Given the description of an element on the screen output the (x, y) to click on. 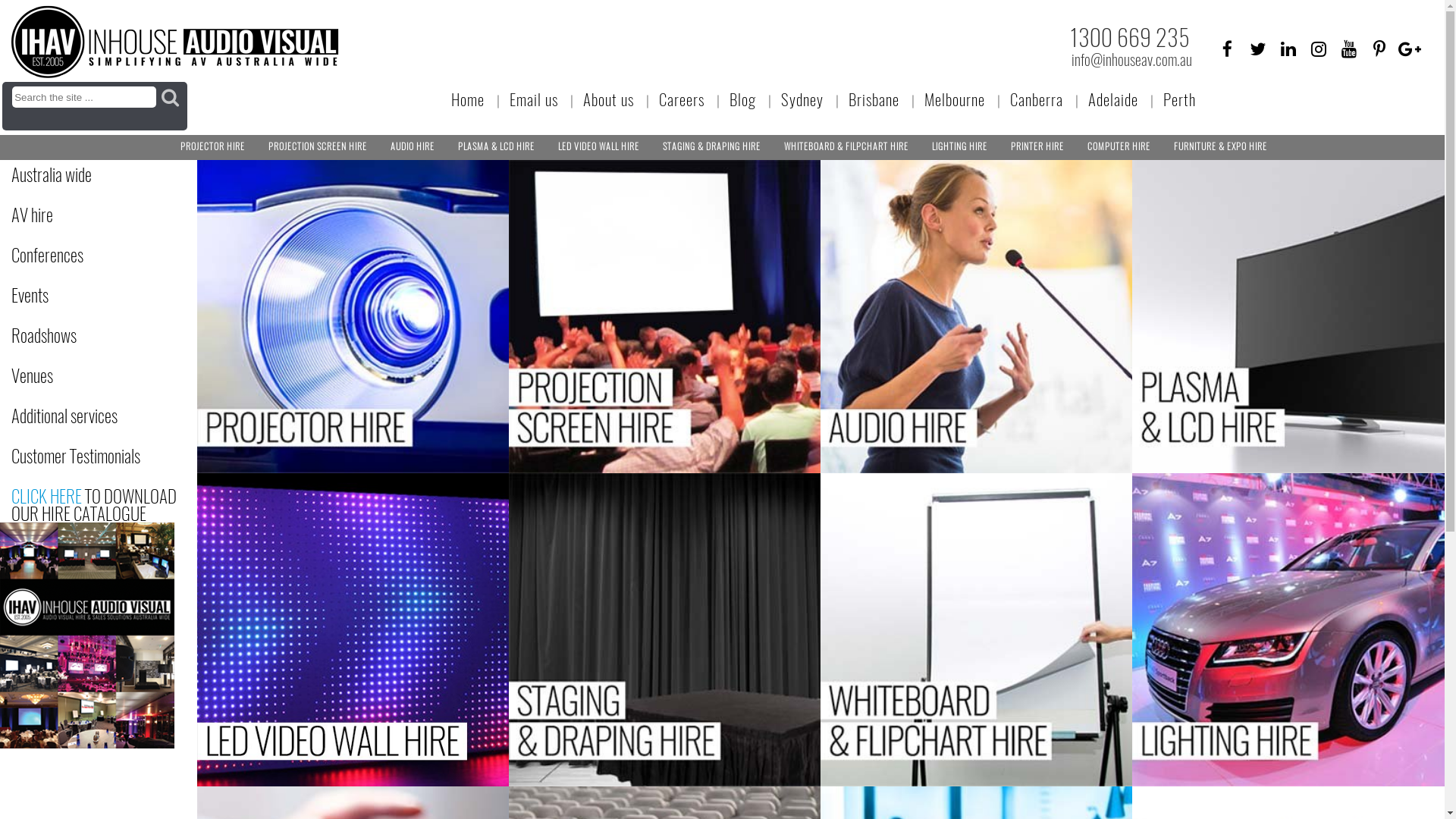
LED VIDEO WALL HIRE Element type: text (598, 147)
CLICK HERE Element type: text (46, 496)
Conferences Element type: text (87, 254)
Careers Element type: text (681, 99)
Email us Element type: text (533, 99)
Customer Testimonials Element type: text (87, 455)
Australia wide Element type: text (87, 174)
FURNITURE & EXPO HIRE Element type: text (1220, 147)
Sydney Element type: text (802, 99)
PRINTER HIRE Element type: text (1037, 147)
PROJECTOR HIRE Element type: text (212, 147)
STAGING & DRAPING HIRE Element type: text (711, 147)
Events Element type: text (87, 295)
1300 669 235 Element type: text (1129, 37)
Canberra Element type: text (1036, 99)
info@inhouseav.com.au Element type: text (1131, 59)
WHITEBOARD & FILPCHART HIRE Element type: text (846, 147)
Roadshows Element type: text (87, 335)
Venues Element type: text (87, 375)
Perth Element type: text (1179, 99)
Adelaide Element type: text (1113, 99)
Brisbane Element type: text (873, 99)
Melbourne Element type: text (954, 99)
LIGHTING HIRE Element type: text (959, 147)
Home Element type: text (467, 99)
Additional services Element type: text (87, 415)
PLASMA & LCD HIRE Element type: text (496, 147)
Blog Element type: text (742, 99)
AV hire Element type: text (87, 214)
COMPUTER HIRE Element type: text (1118, 147)
About us Element type: text (608, 99)
AUDIO HIRE Element type: text (412, 147)
PROJECTION SCREEN HIRE Element type: text (317, 147)
